Given the description of an element on the screen output the (x, y) to click on. 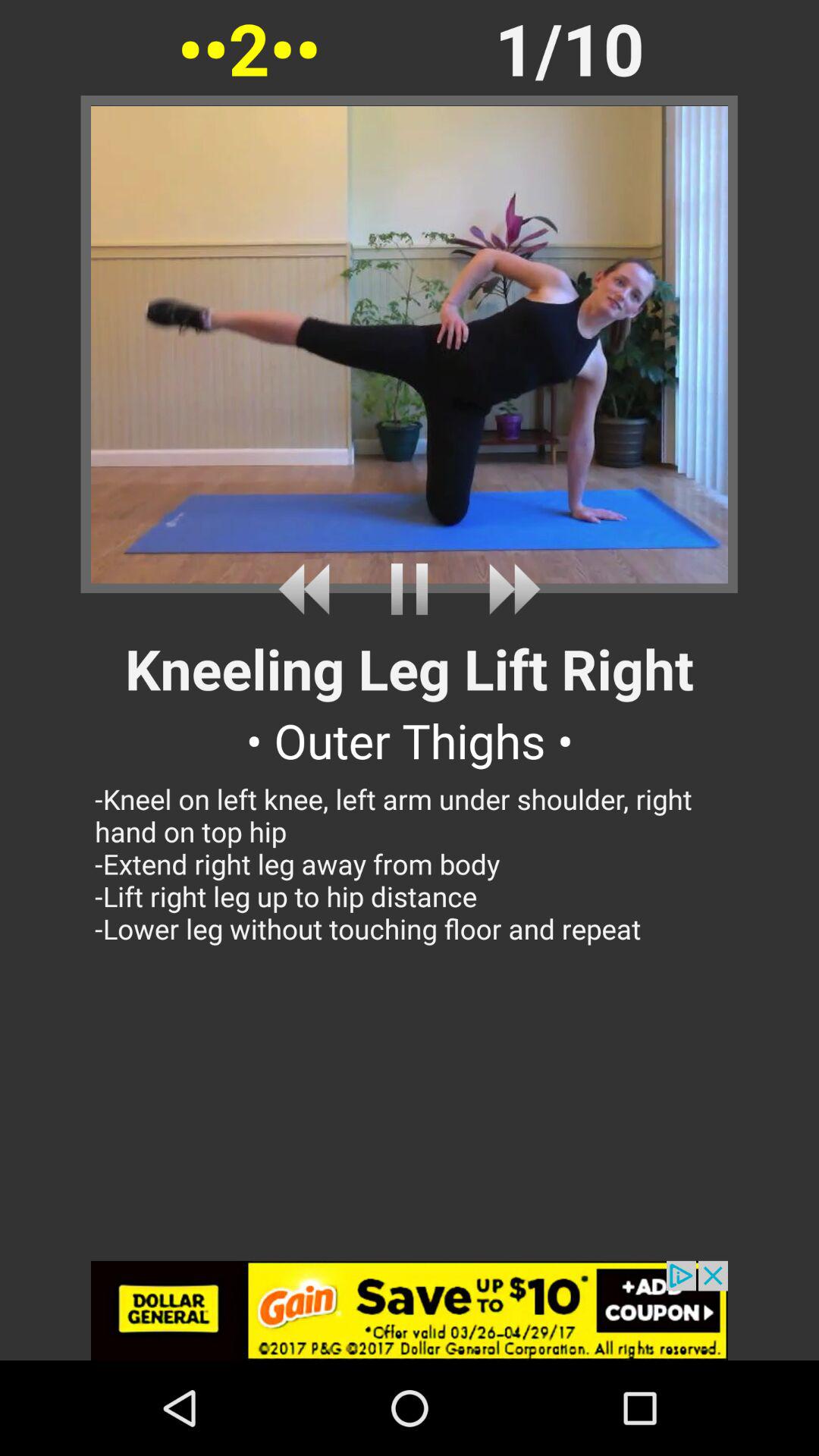
view advertisement (409, 1310)
